Given the description of an element on the screen output the (x, y) to click on. 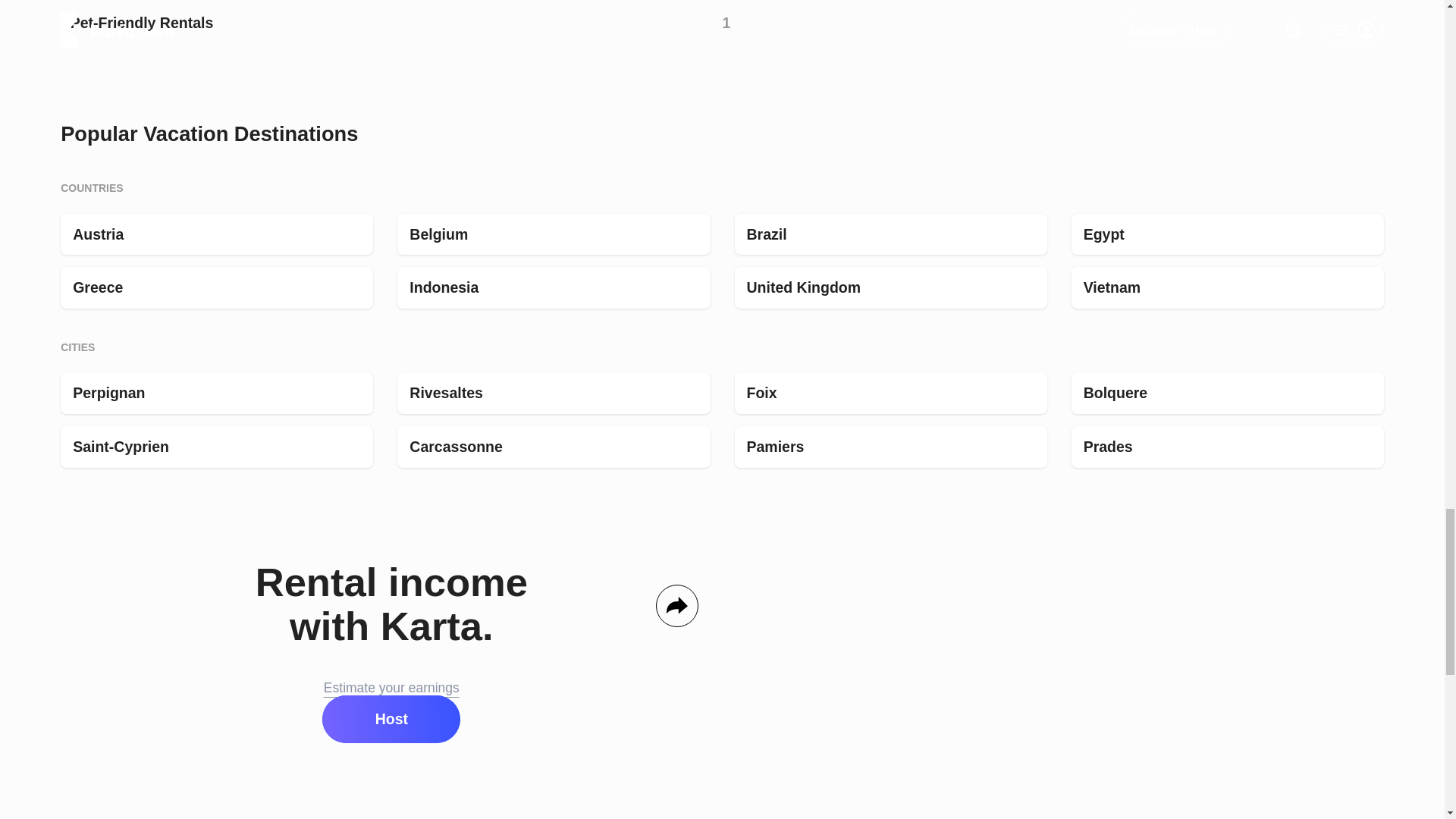
Austria (216, 234)
Belgium (553, 234)
